Given the description of an element on the screen output the (x, y) to click on. 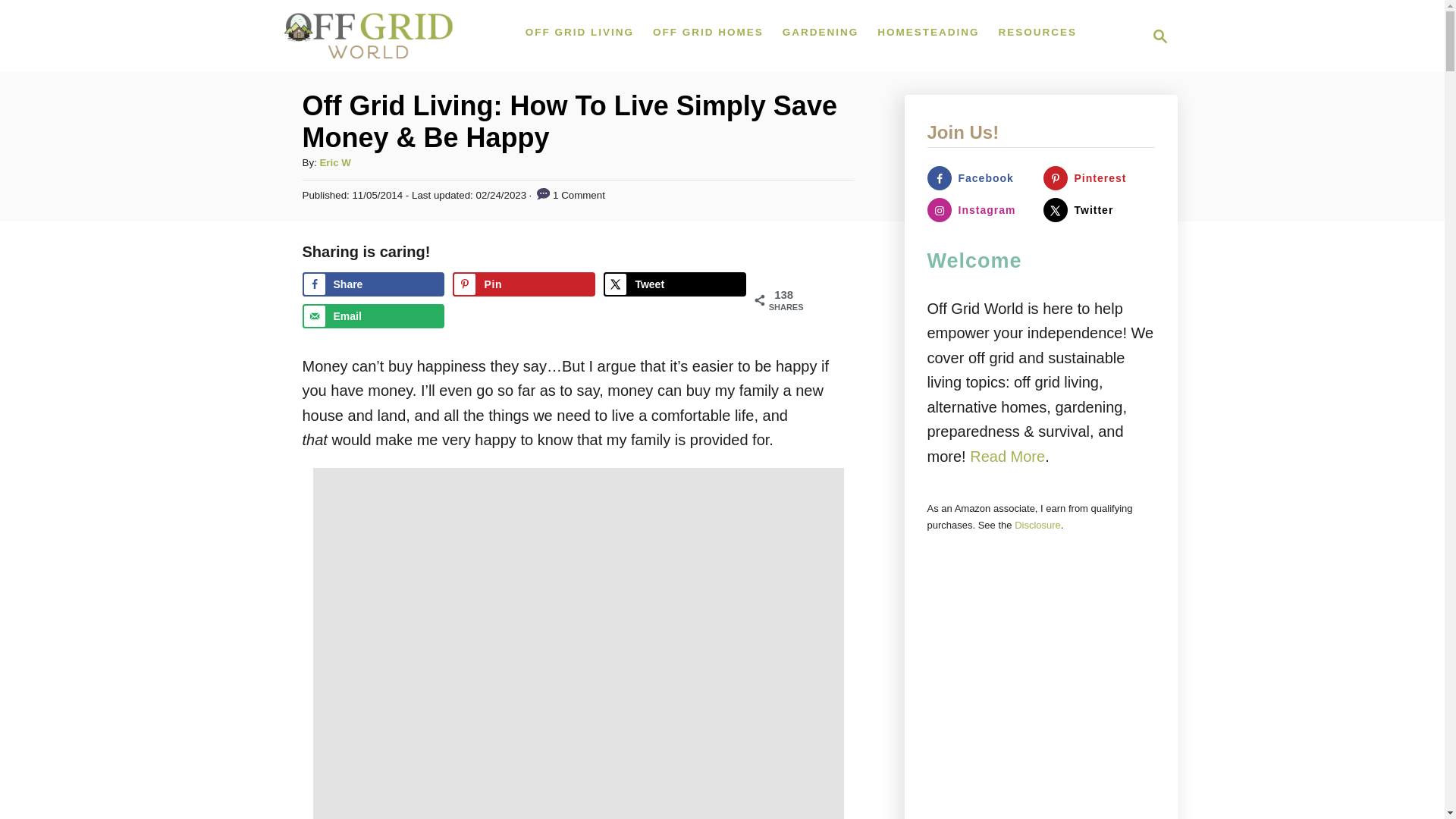
OFF GRID LIVING (579, 32)
Share on X (674, 283)
GARDENING (820, 32)
Off Grid World (368, 35)
Magnifying Glass (1160, 36)
Follow on X (1098, 209)
Follow on Facebook (1155, 36)
Share on Facebook (982, 178)
Follow on Instagram (372, 283)
Follow on Pinterest (982, 209)
OFF GRID HOMES (1098, 178)
Send over email (708, 32)
Save to Pinterest (372, 315)
HOMESTEADING (523, 283)
